Given the description of an element on the screen output the (x, y) to click on. 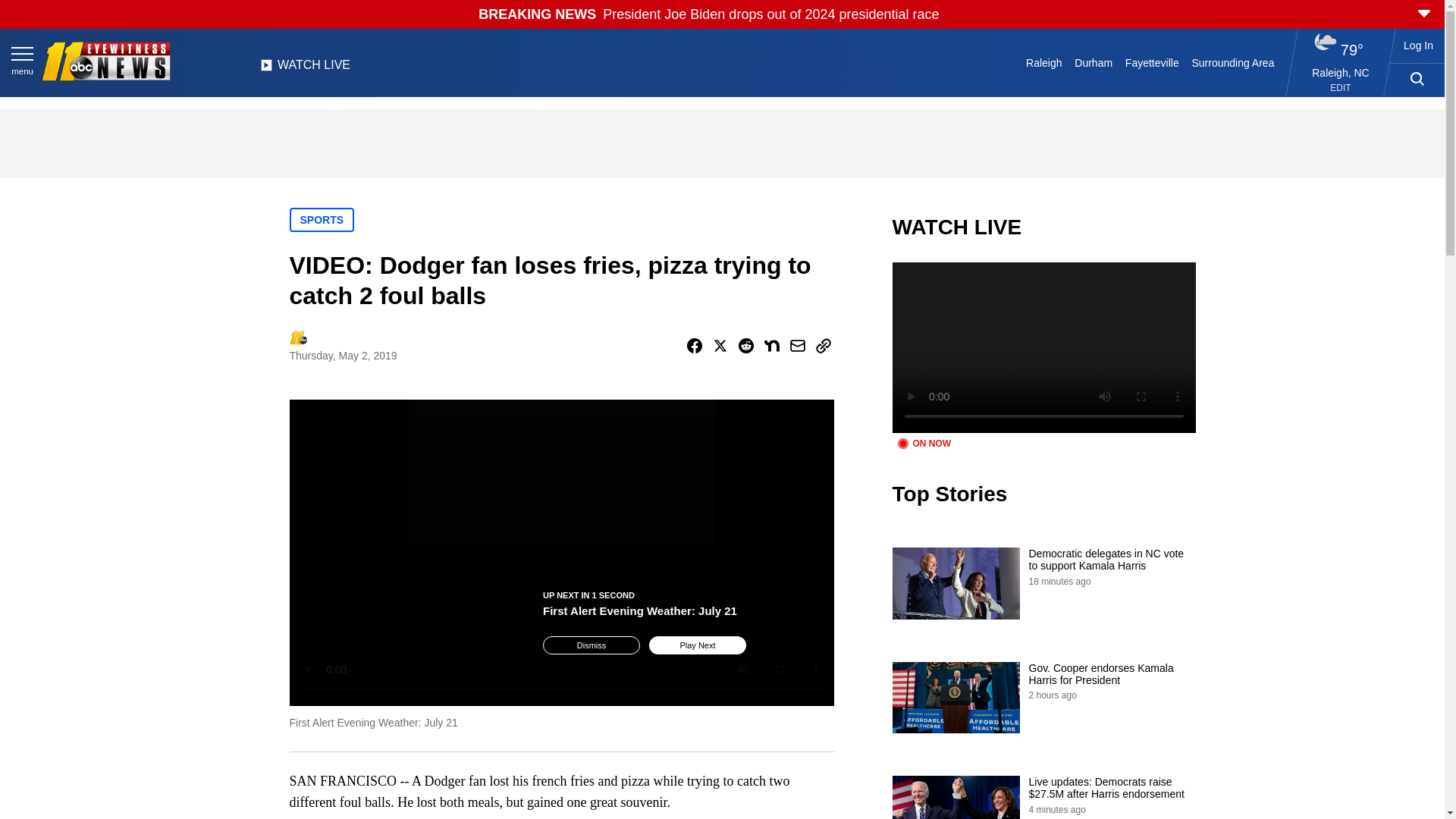
EDIT (1340, 87)
Fayetteville (1151, 62)
Durham (1093, 62)
Surrounding Area (1233, 62)
Raleigh (1044, 62)
video.title (1043, 347)
WATCH LIVE (305, 69)
Raleigh, NC (1340, 72)
